Given the description of an element on the screen output the (x, y) to click on. 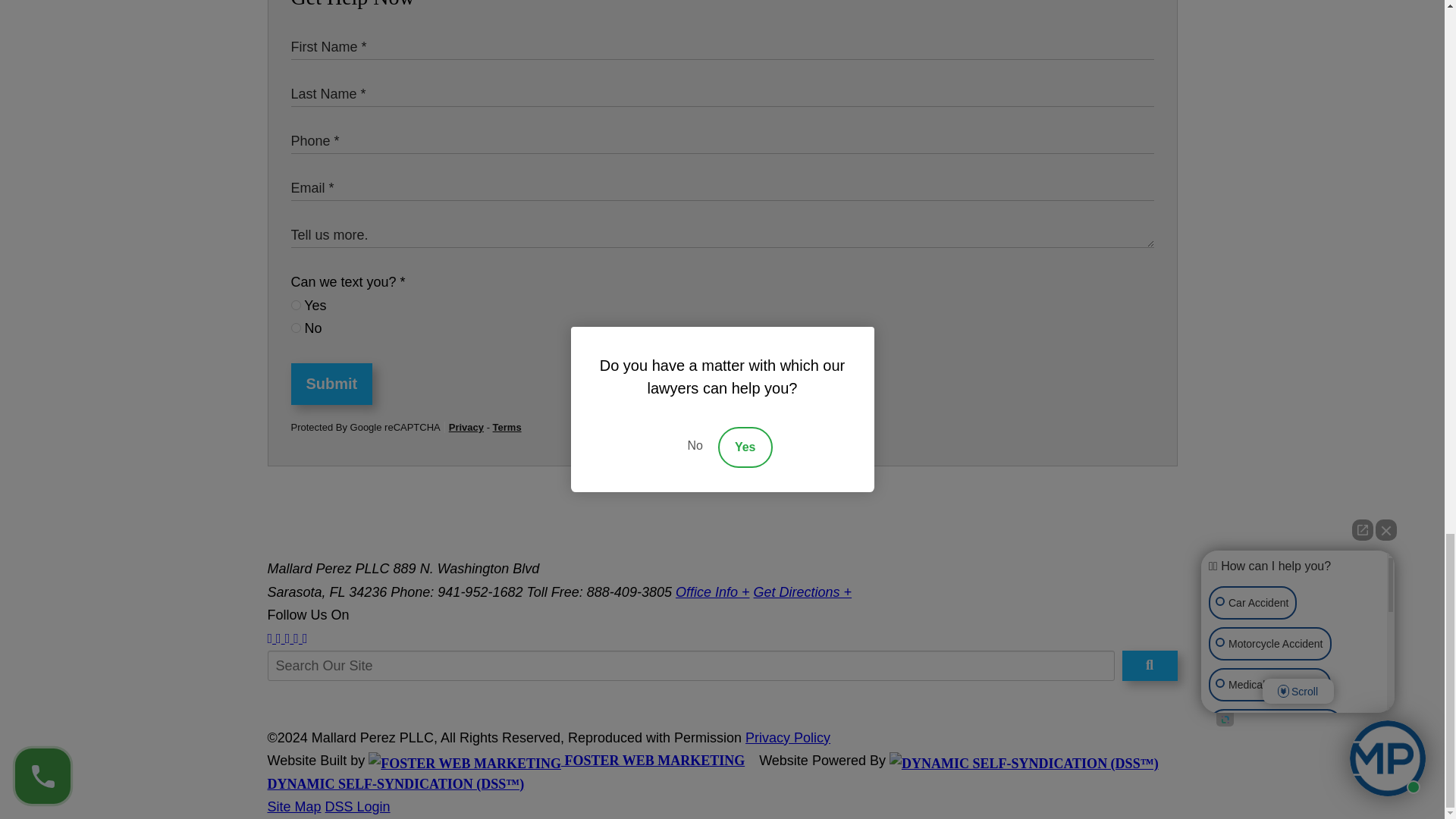
YouTube (296, 638)
Twitter (278, 638)
LinkedIn (287, 638)
RSS Feed (304, 638)
Yes (296, 305)
No (296, 327)
Facebook (269, 638)
Search (1149, 665)
